Given the description of an element on the screen output the (x, y) to click on. 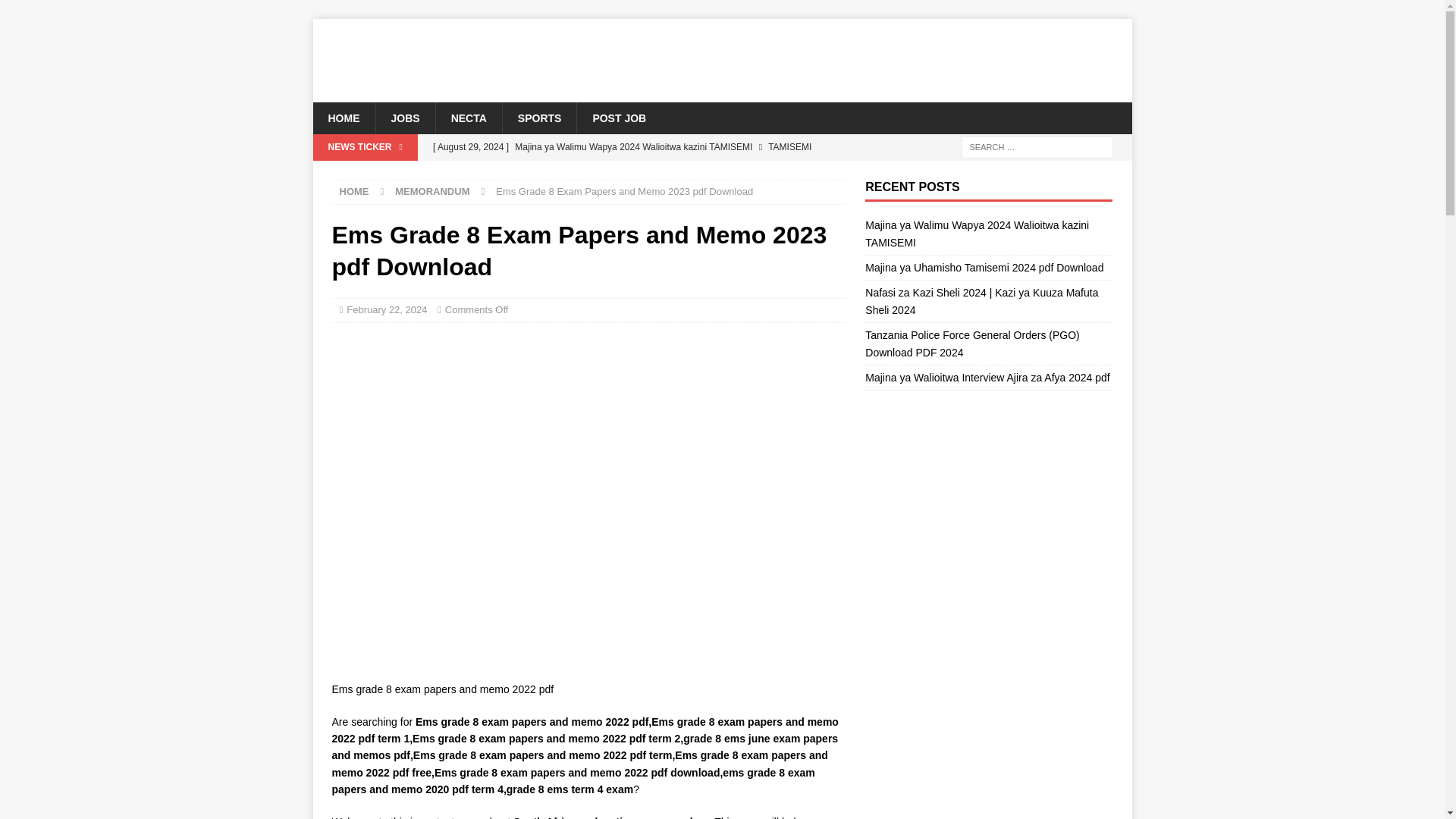
HOME (354, 191)
MEMORANDUM (431, 191)
HOME (343, 118)
February 22, 2024 (386, 309)
JOBS (403, 118)
NECTA (468, 118)
Majina ya Uhamisho Tamisemi 2024 pdf Download (634, 172)
Search (56, 11)
SPORTS (539, 118)
Majina ya Walimu Wapya 2024 Walioitwa kazini TAMISEMI (634, 146)
